Given the description of an element on the screen output the (x, y) to click on. 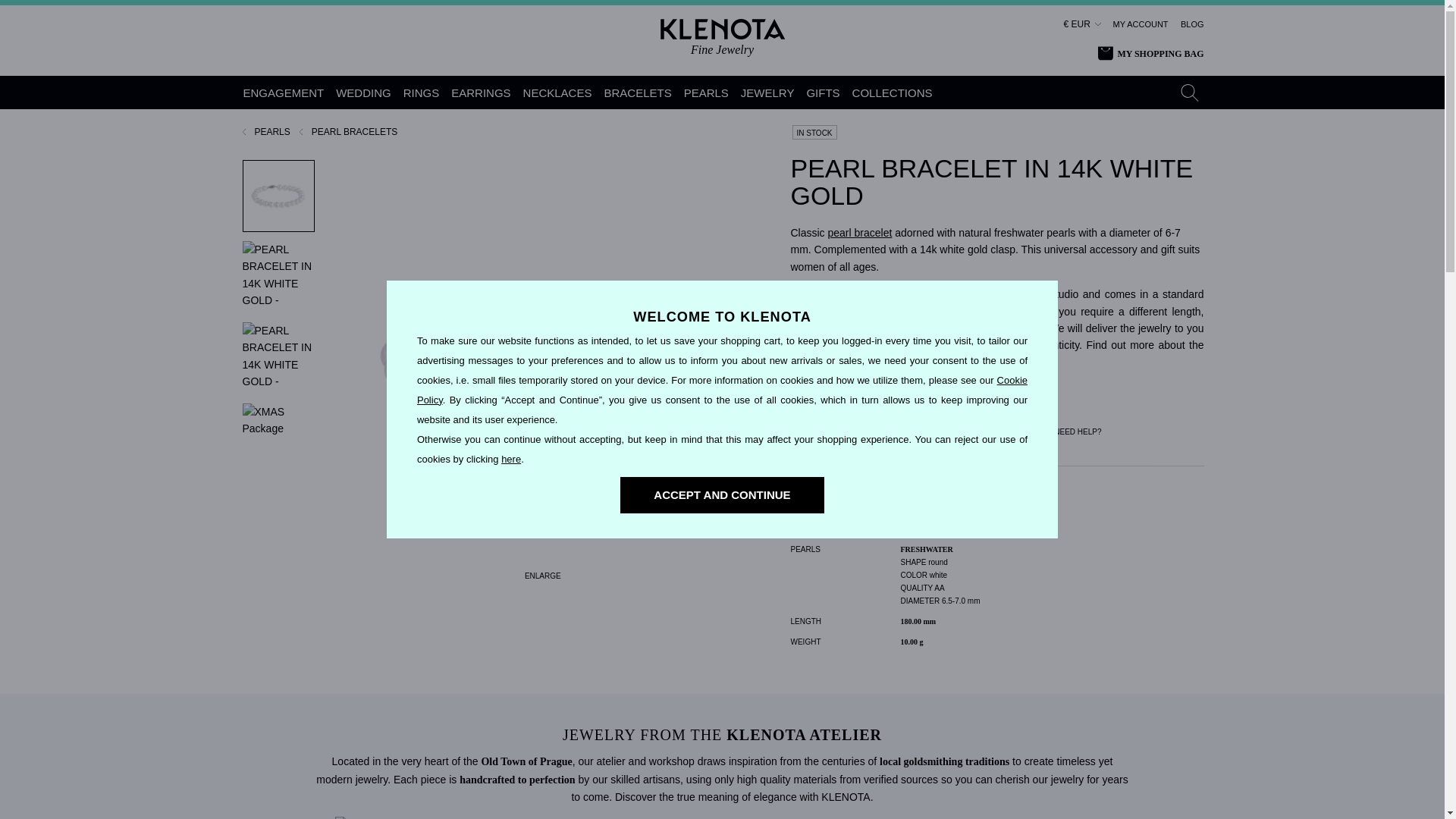
MY SHOPPING BAG (1150, 53)
BLOG (1192, 24)
ENGAGEMENT (283, 92)
MY ACCOUNT (1141, 24)
